Given the description of an element on the screen output the (x, y) to click on. 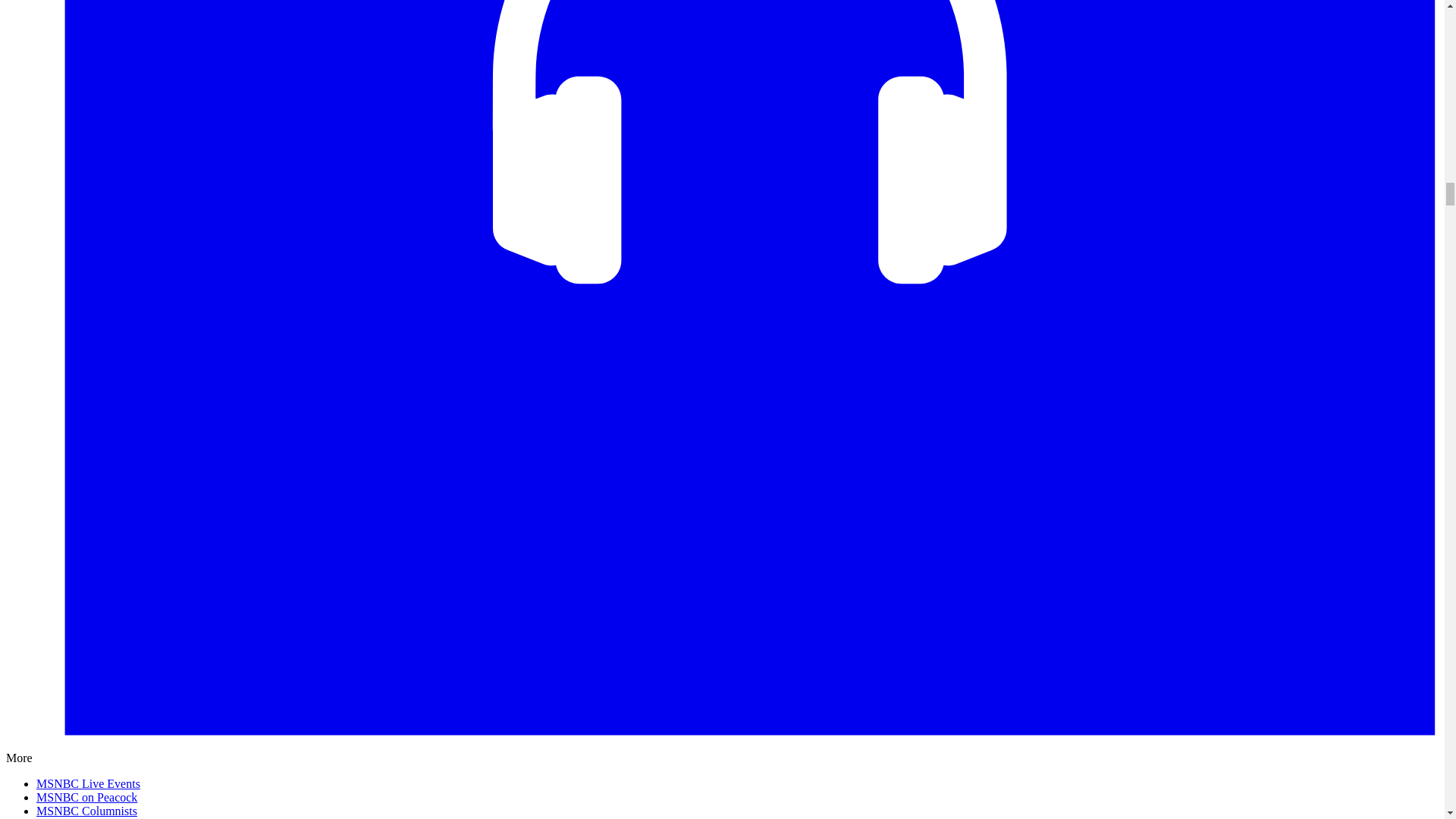
MSNBC Live Events (87, 783)
MSNBC on Peacock (86, 797)
